Given the description of an element on the screen output the (x, y) to click on. 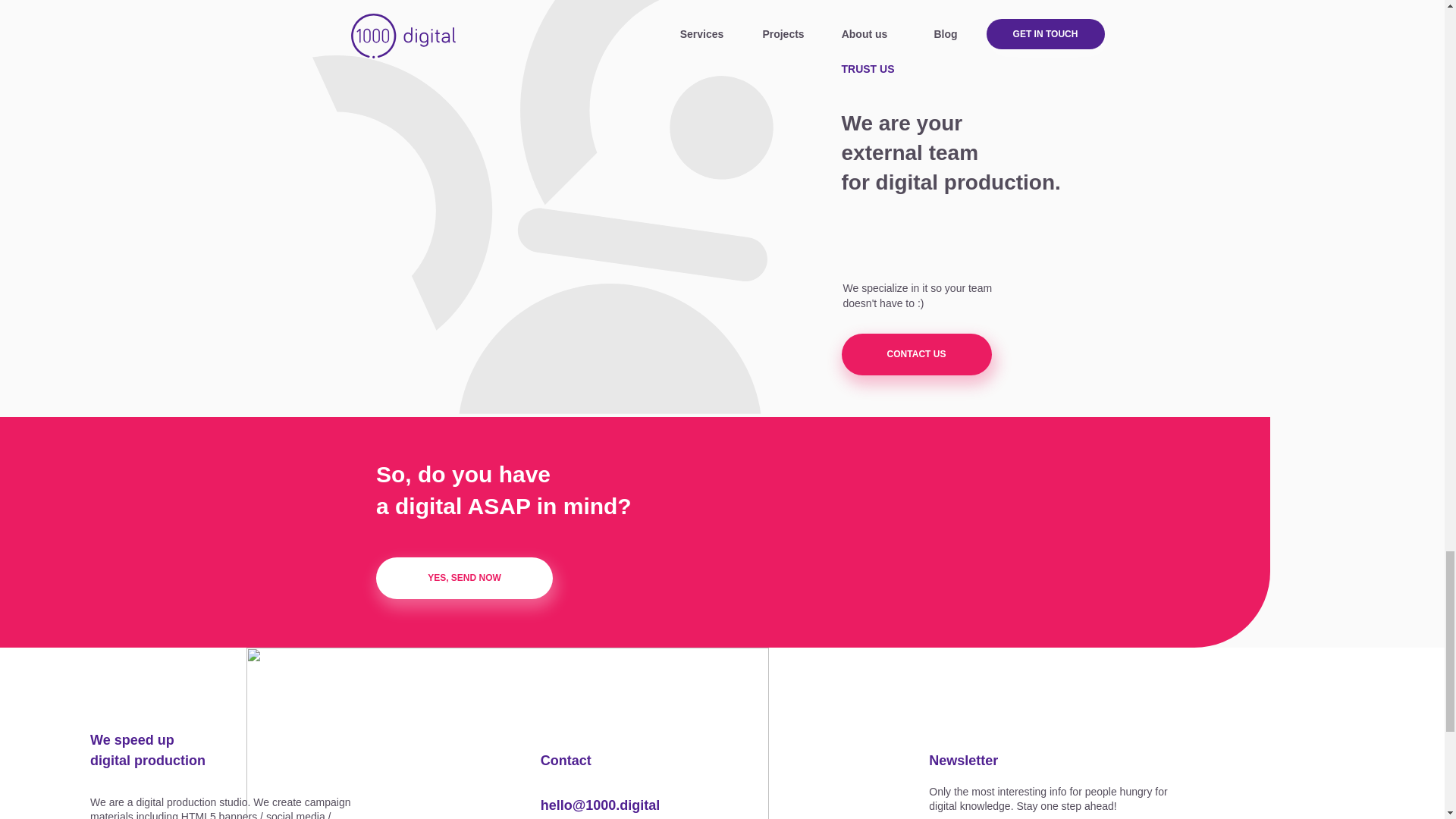
YES, SEND NOW (464, 577)
footer.png (507, 733)
CONTACT US (916, 354)
